Given the description of an element on the screen output the (x, y) to click on. 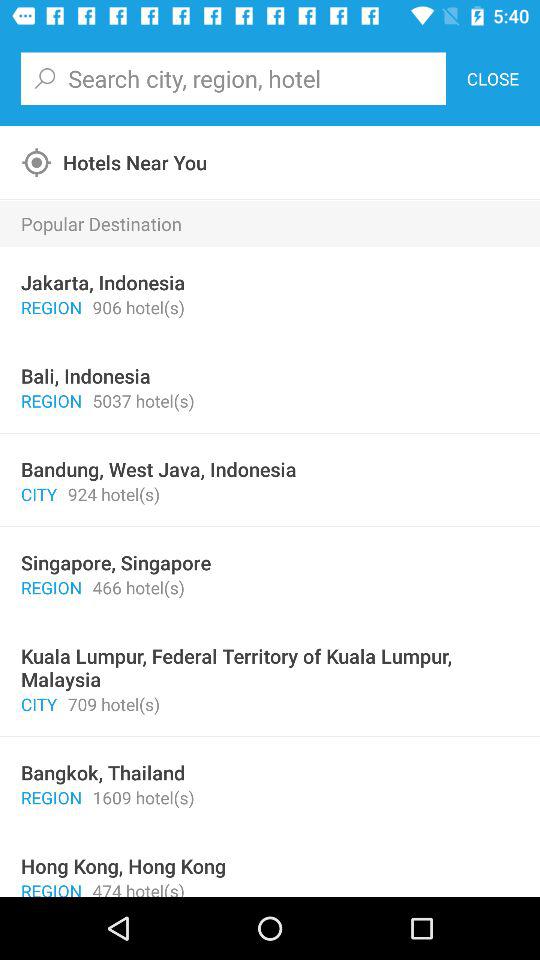
jump to the close icon (492, 78)
